Given the description of an element on the screen output the (x, y) to click on. 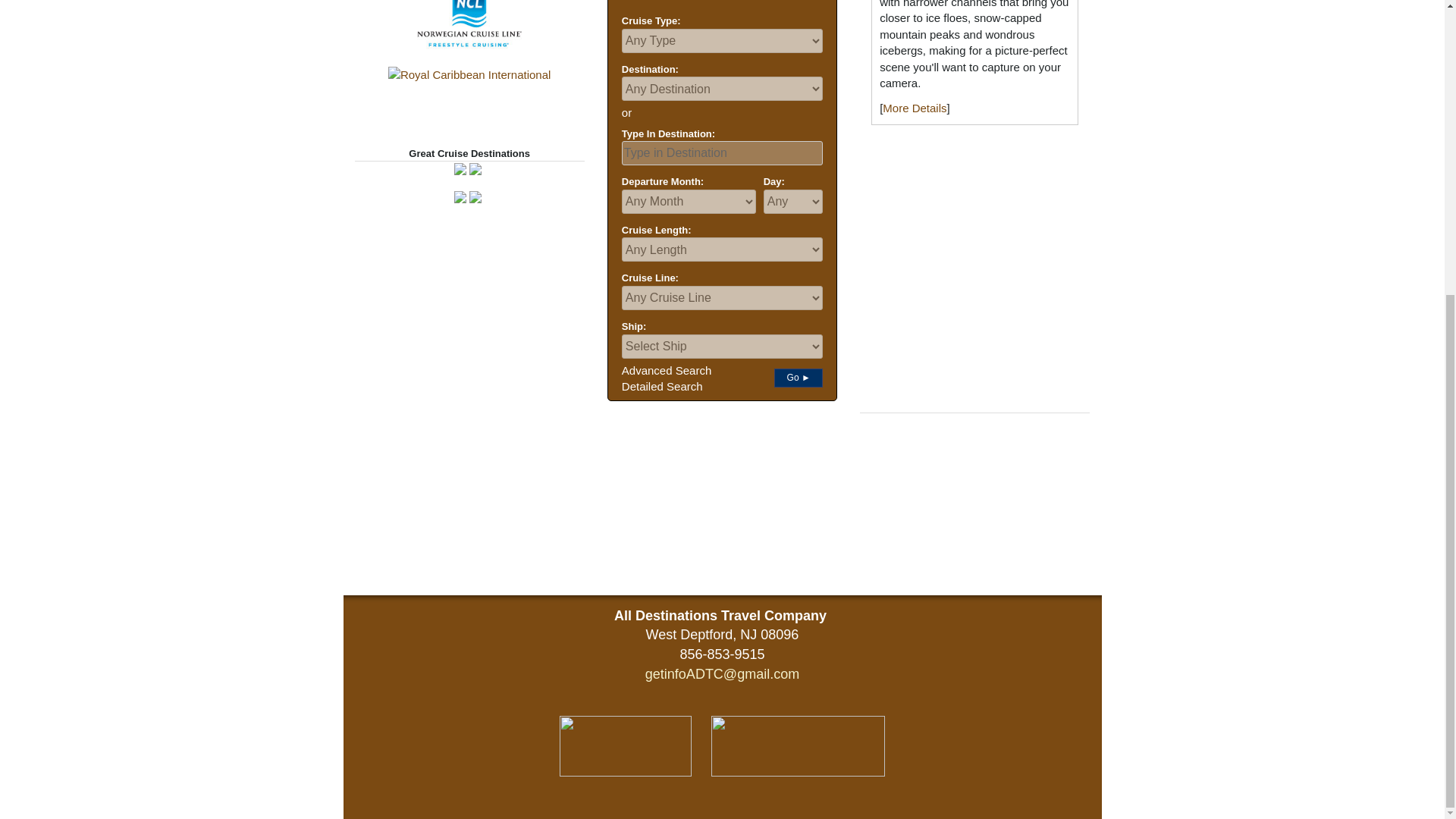
Advanced Search (666, 369)
